Given the description of an element on the screen output the (x, y) to click on. 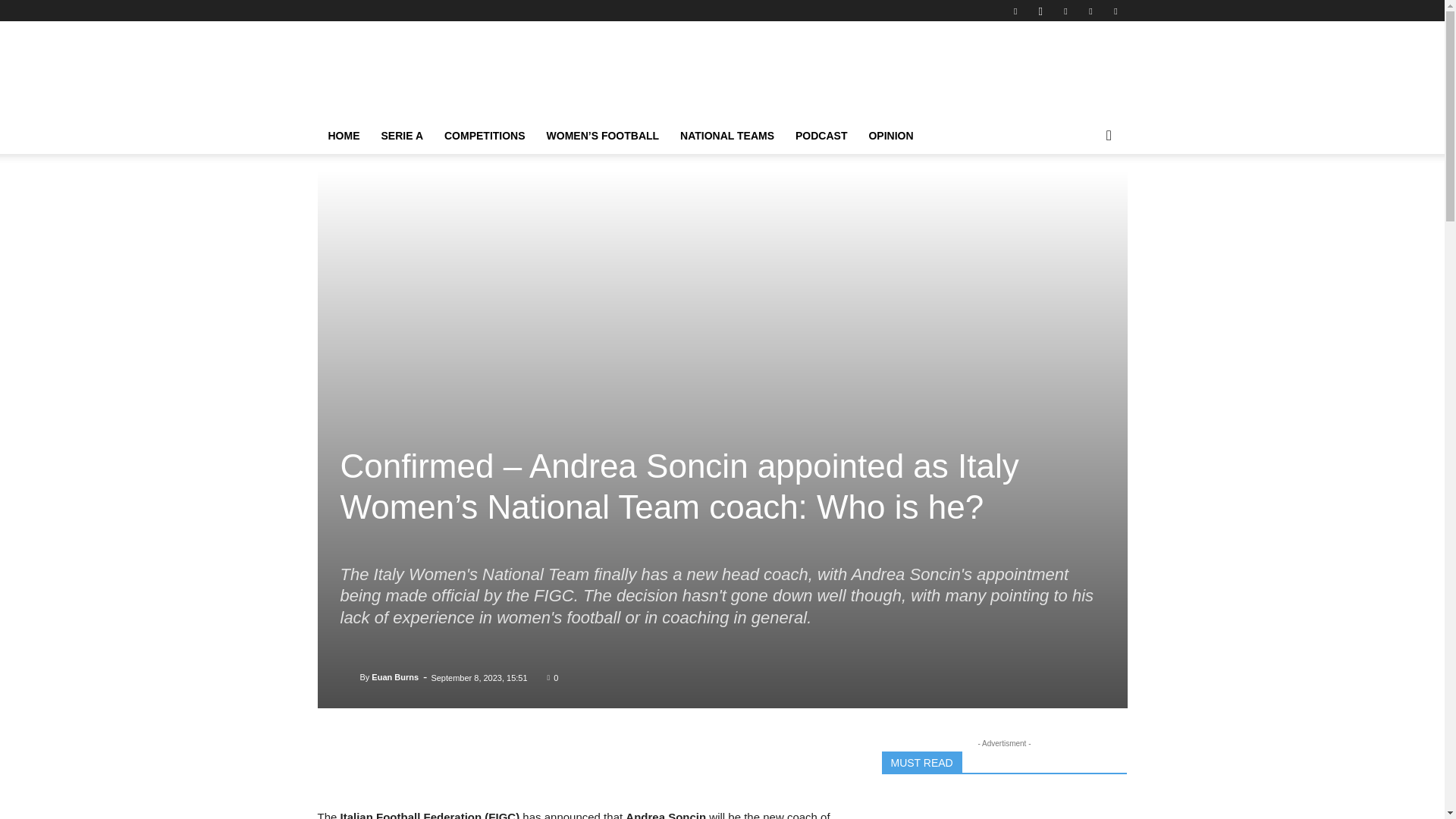
TikTok (1090, 10)
Mail (1065, 10)
Twitter (1114, 10)
Instagram (1040, 10)
Euan Burns (349, 676)
Facebook (1015, 10)
